Given the description of an element on the screen output the (x, y) to click on. 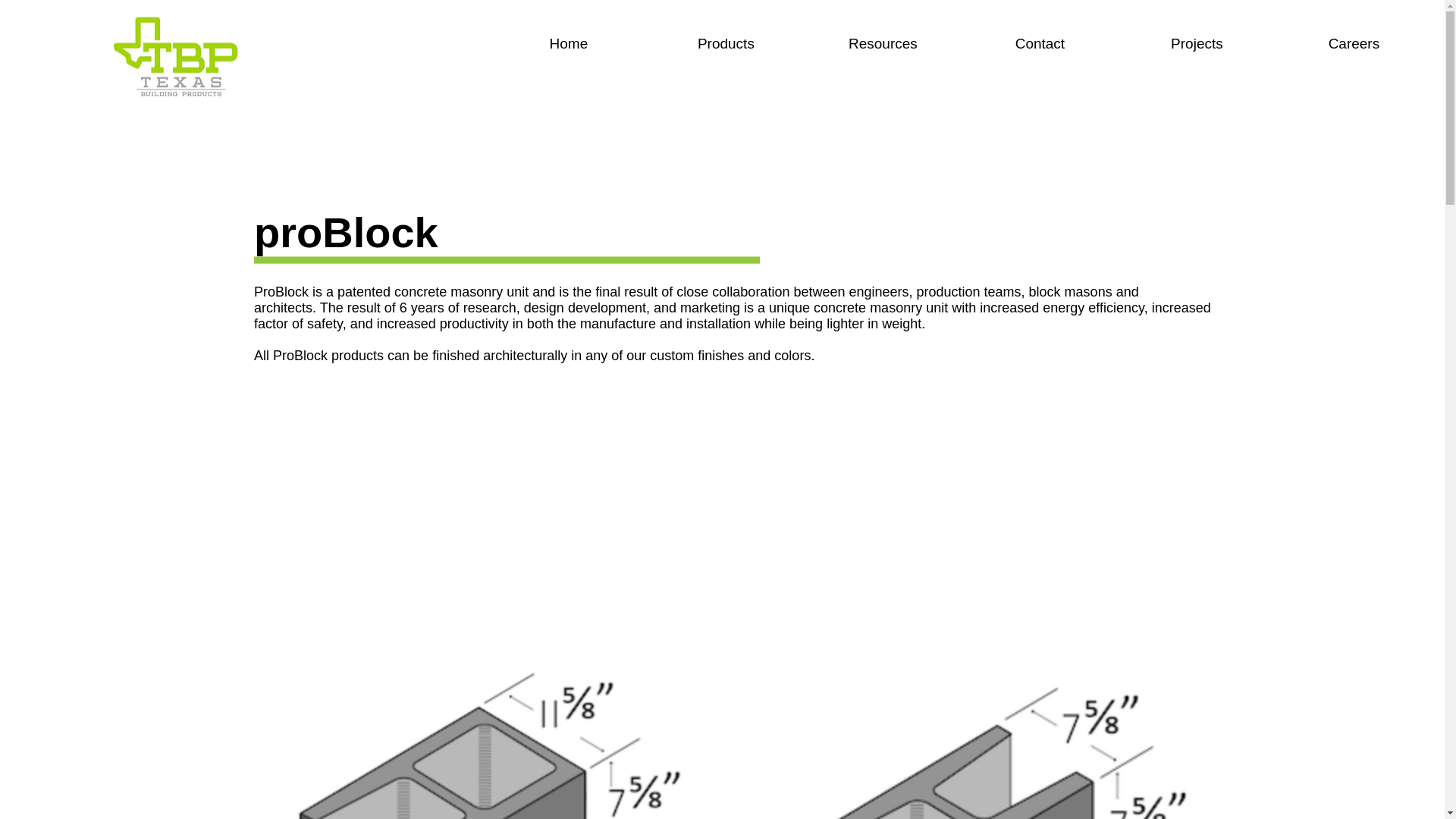
Careers (1353, 43)
Contact (1039, 43)
Resources (882, 43)
Home (568, 43)
Projects (1196, 43)
